Given the description of an element on the screen output the (x, y) to click on. 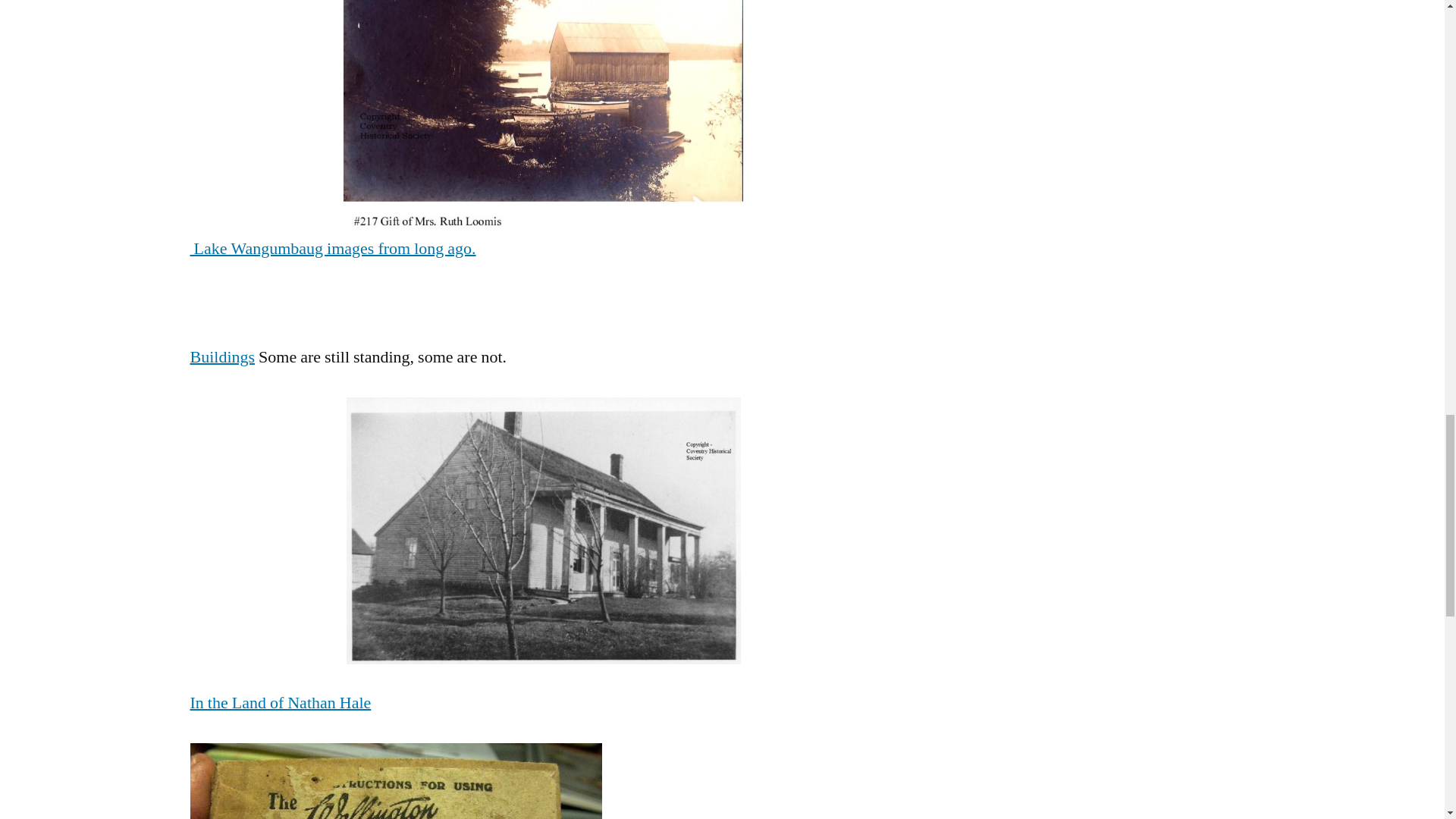
In the Land of Nathan Hale (280, 702)
Buildings (221, 356)
 Lake Wangumbaug images from long ago. (332, 248)
